Given the description of an element on the screen output the (x, y) to click on. 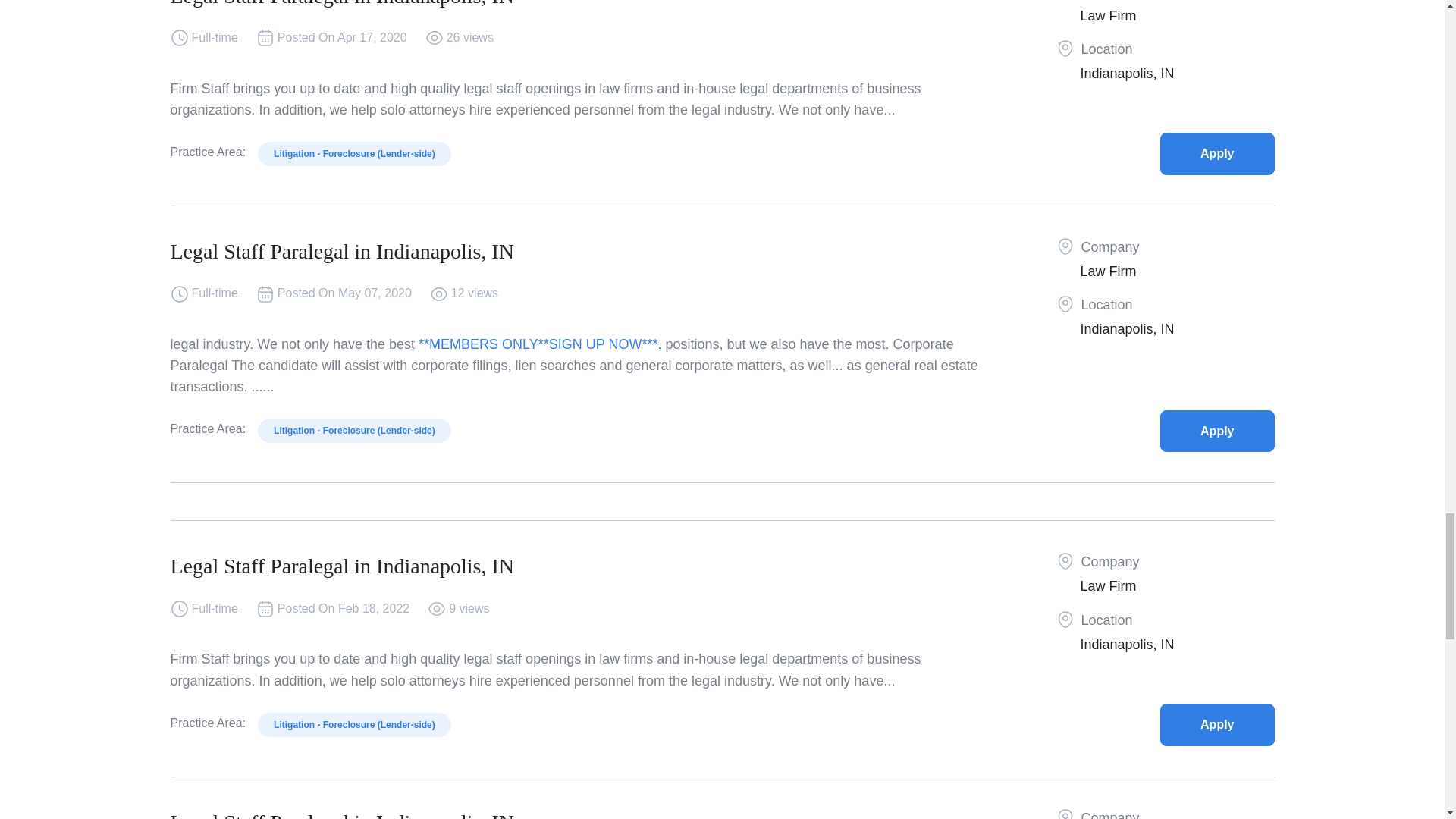
Legal Staff Paralegal in Indianapolis, IN (1217, 724)
Legal Staff Paralegal in Indianapolis, IN (1217, 153)
Legal Staff Paralegal in Indianapolis, IN (1217, 431)
